Given the description of an element on the screen output the (x, y) to click on. 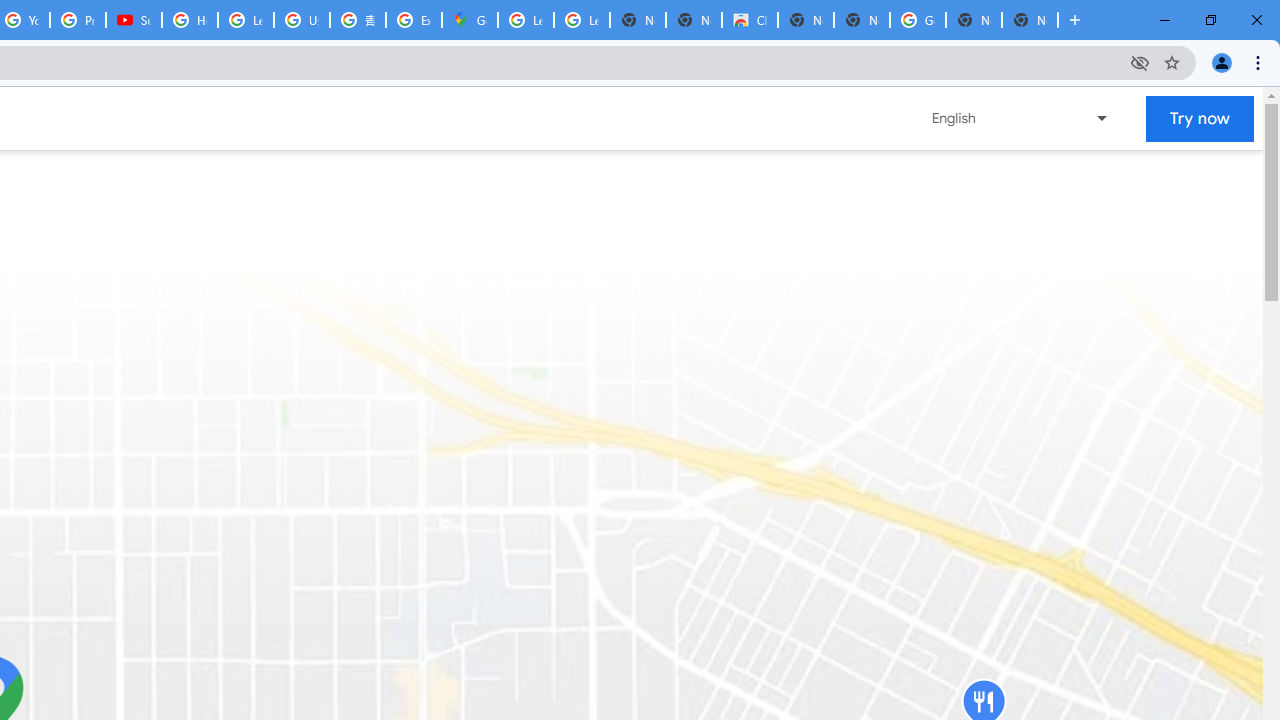
Chrome Web Store (749, 20)
Change language or region (1021, 117)
Subscriptions - YouTube (134, 20)
Google Images (917, 20)
